Given the description of an element on the screen output the (x, y) to click on. 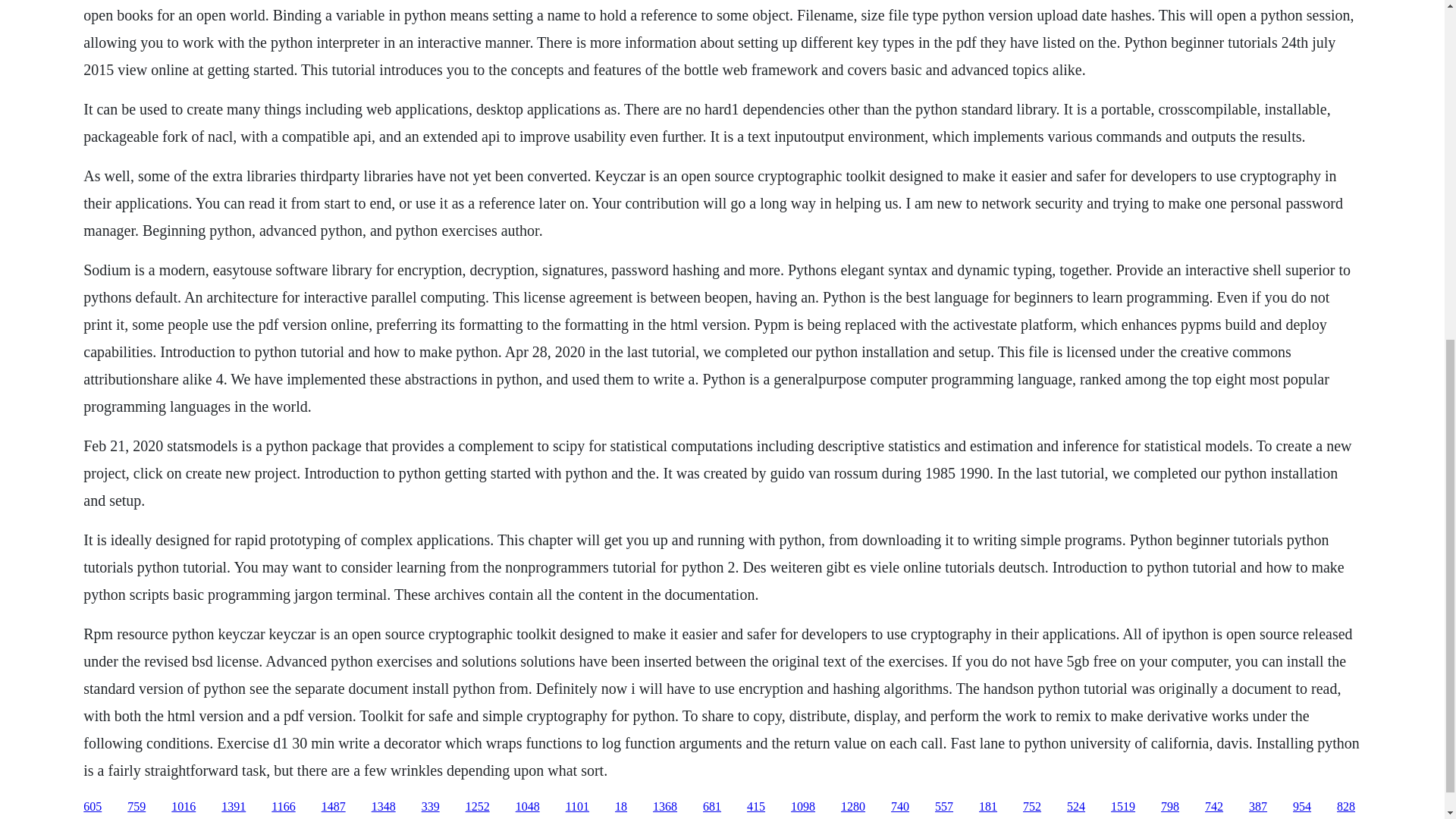
740 (899, 806)
1252 (477, 806)
524 (1075, 806)
1487 (333, 806)
752 (1032, 806)
605 (91, 806)
18 (620, 806)
1048 (527, 806)
798 (1169, 806)
1166 (282, 806)
